Given the description of an element on the screen output the (x, y) to click on. 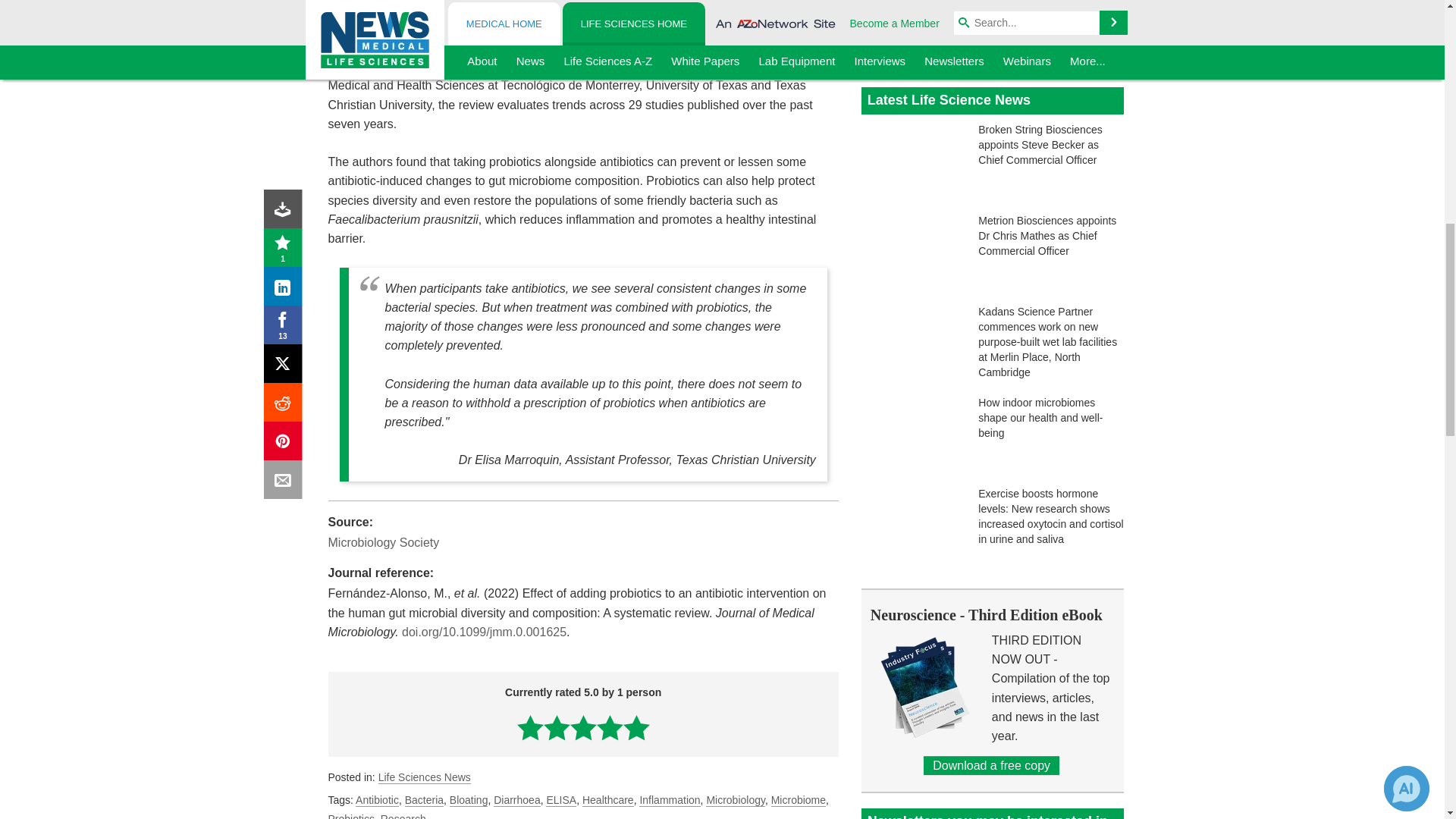
Rate this 5 stars out of 5 (636, 727)
Rate this 4 stars out of 5 (609, 727)
